Given the description of an element on the screen output the (x, y) to click on. 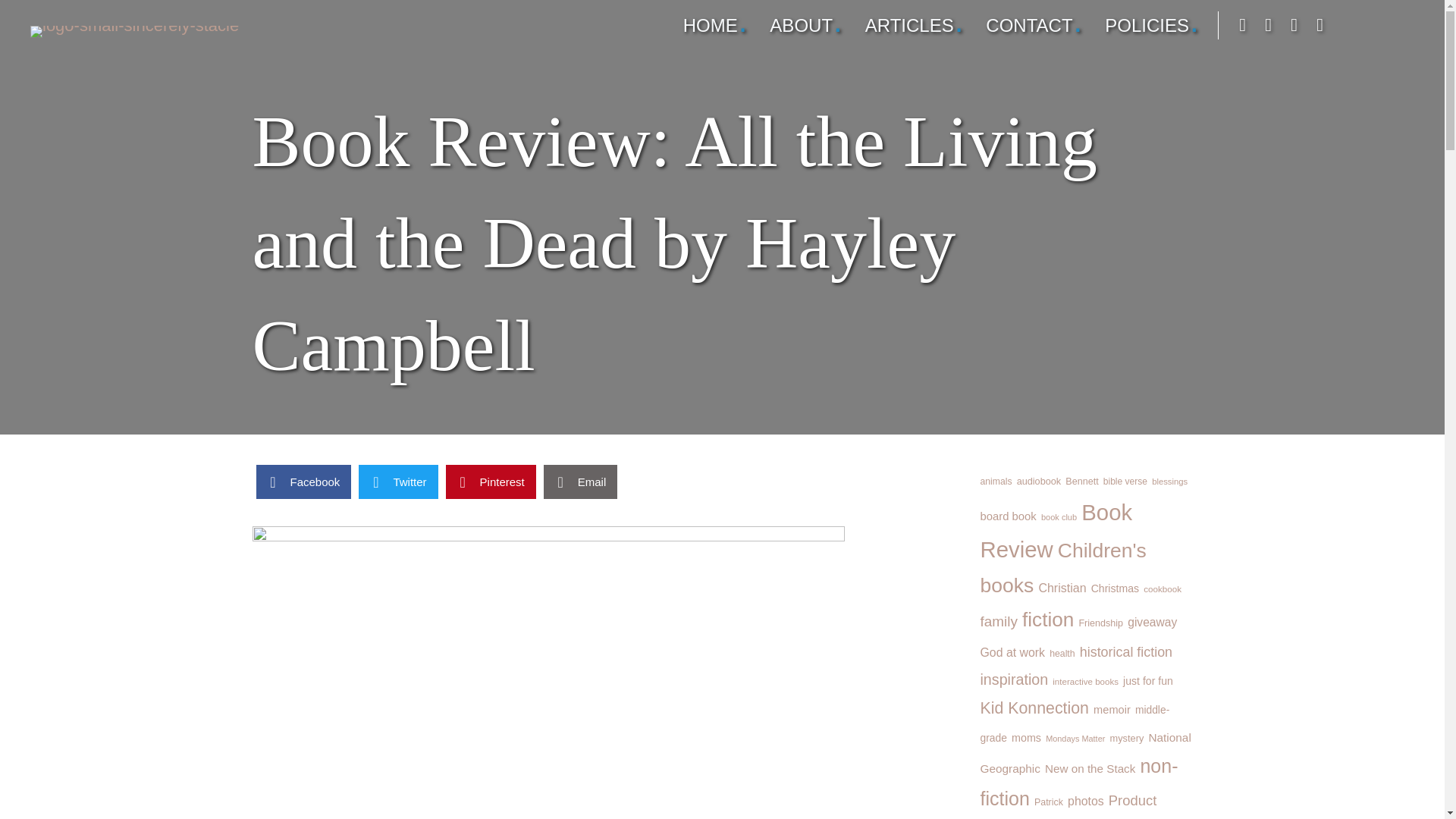
ABOUT (804, 25)
ARTICLES (914, 25)
POLICIES (1151, 25)
HOME (715, 25)
animals (995, 480)
CONTACT (1033, 25)
logo-small-sincerely-stacie (134, 31)
Facebook (304, 481)
Twitter (398, 481)
Pinterest (490, 481)
